Given the description of an element on the screen output the (x, y) to click on. 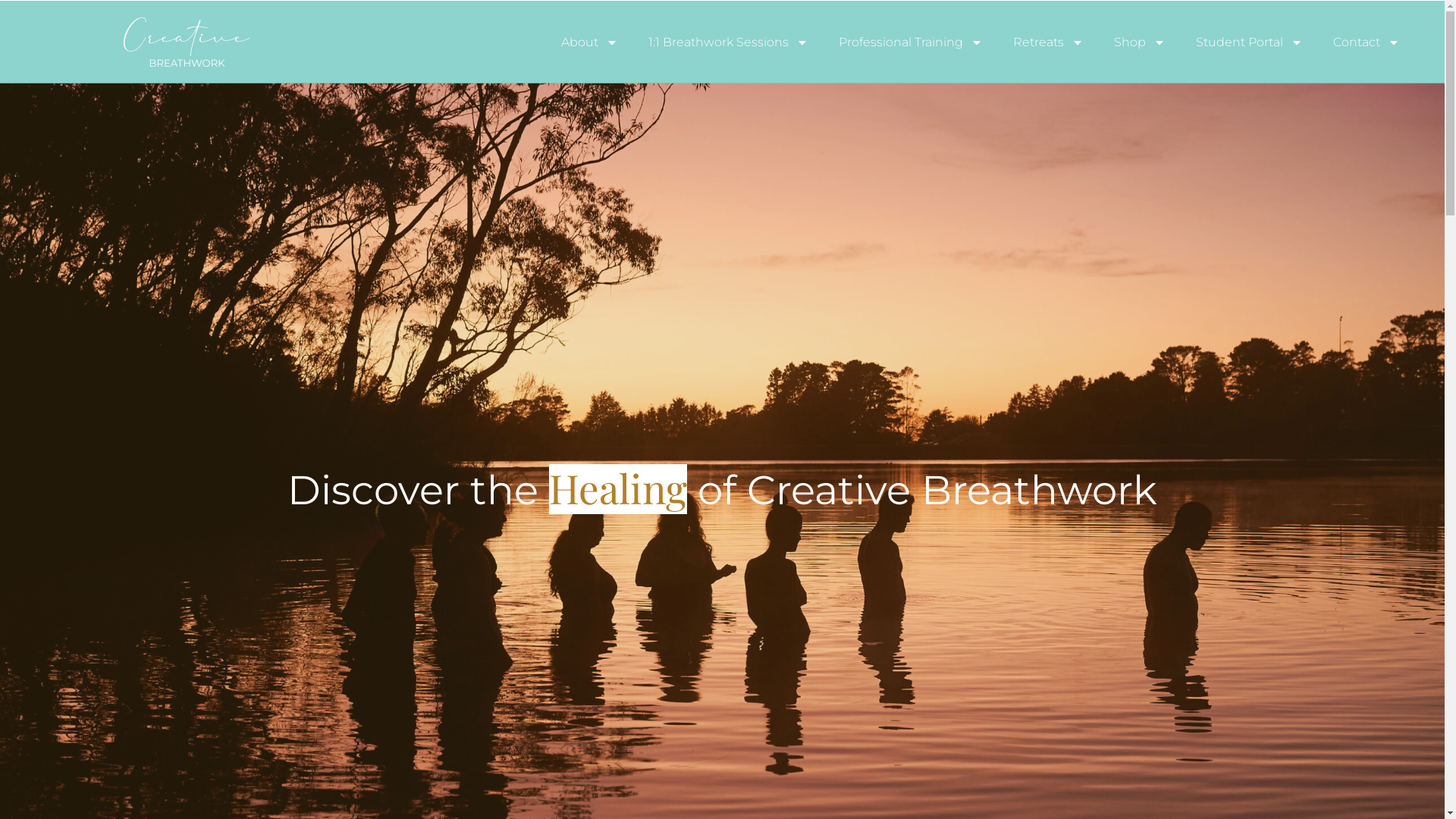
About Element type: text (589, 41)
Contact Element type: text (1366, 41)
Student Portal Element type: text (1248, 41)
Professional Training Element type: text (910, 41)
Retreats Element type: text (1047, 41)
Shop Element type: text (1139, 41)
1:1 Breathwork Sessions Element type: text (728, 41)
